Given the description of an element on the screen output the (x, y) to click on. 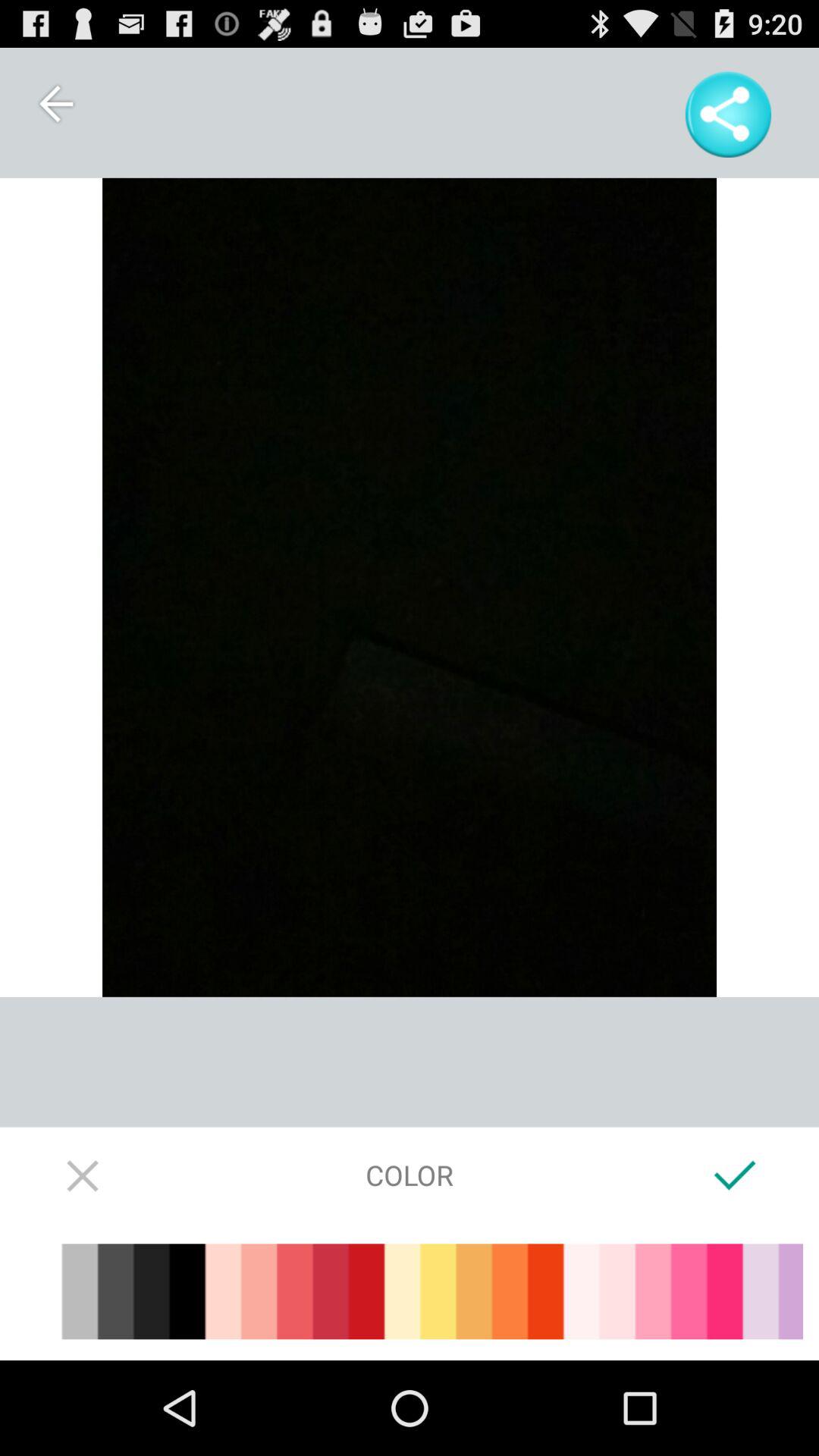
turn off the icon at the bottom right corner (735, 1174)
